Given the description of an element on the screen output the (x, y) to click on. 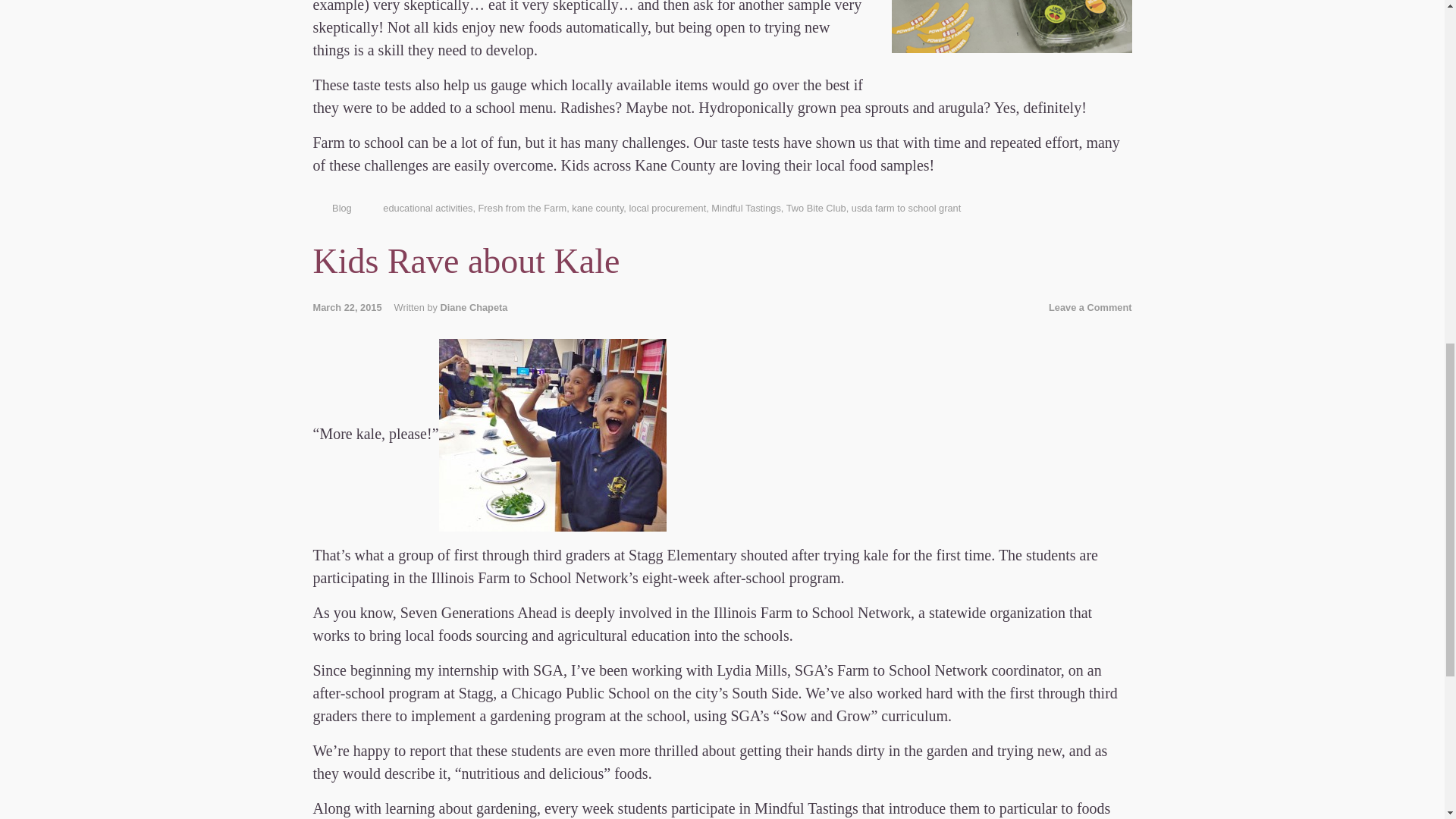
View all posts by Diane Chapeta (472, 307)
educational activities (426, 207)
kane county (597, 207)
March 22, 2015 (353, 307)
local procurement (667, 207)
Diane Chapeta (472, 307)
Mindful Tastings (745, 207)
Blog (341, 207)
Kids Rave about Kale (466, 260)
Fresh from the Farm (523, 207)
usda farm to school grant (905, 207)
Leave a Comment (1090, 307)
Two Bite Club (815, 207)
